Given the description of an element on the screen output the (x, y) to click on. 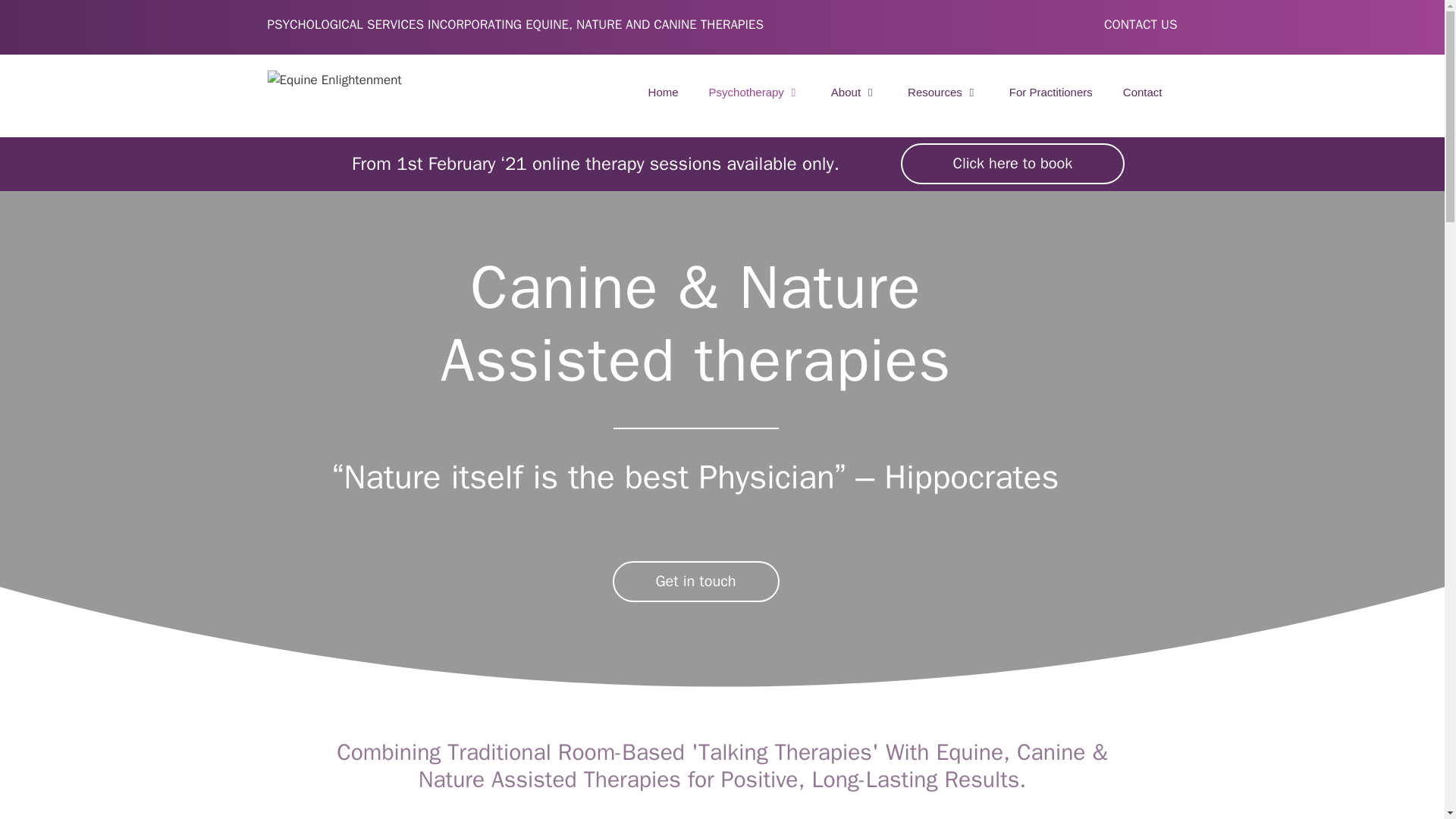
About (853, 92)
Contact (1142, 92)
CONTACT US (1139, 24)
Home (663, 92)
Get in touch (695, 581)
Equine Enlightenment (333, 80)
Psychotherapy (754, 92)
Equine Enlightenment (333, 78)
Click here to book (1012, 163)
Resources (943, 92)
